Given the description of an element on the screen output the (x, y) to click on. 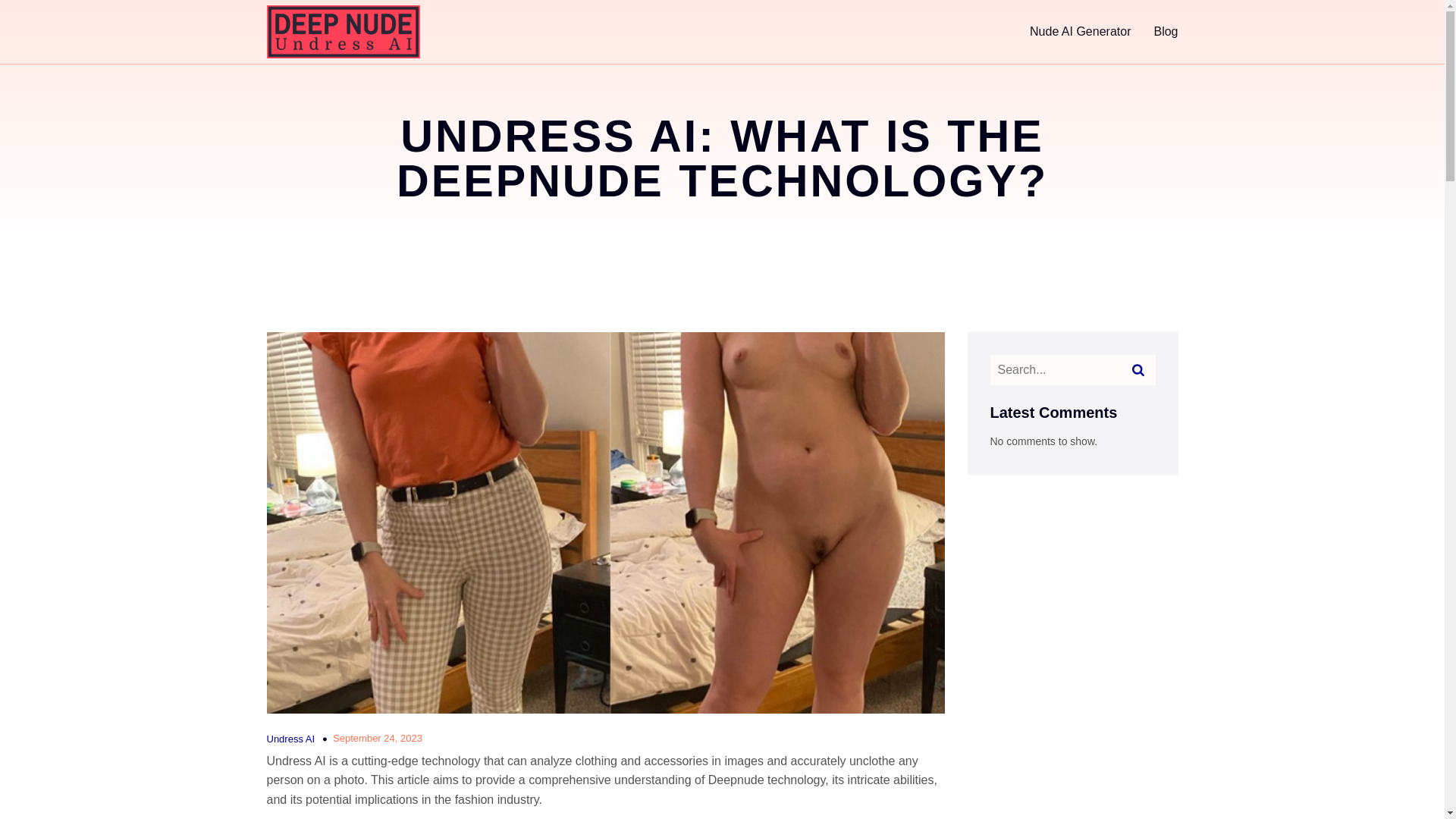
September 24, 2023 (377, 738)
Undress AI (290, 738)
Nude AI Generator (1080, 31)
